Given the description of an element on the screen output the (x, y) to click on. 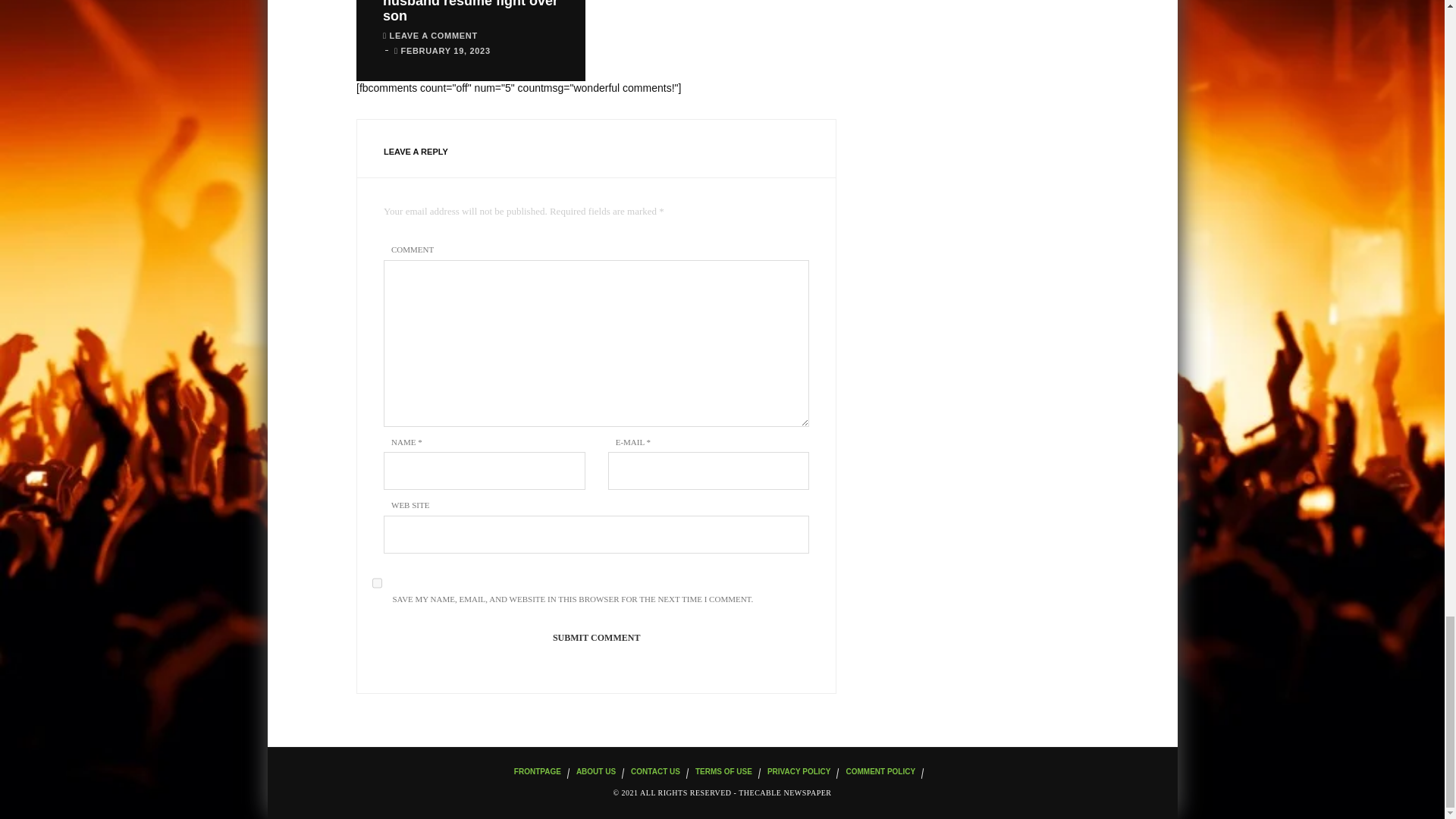
Submit Comment (596, 638)
